Given the description of an element on the screen output the (x, y) to click on. 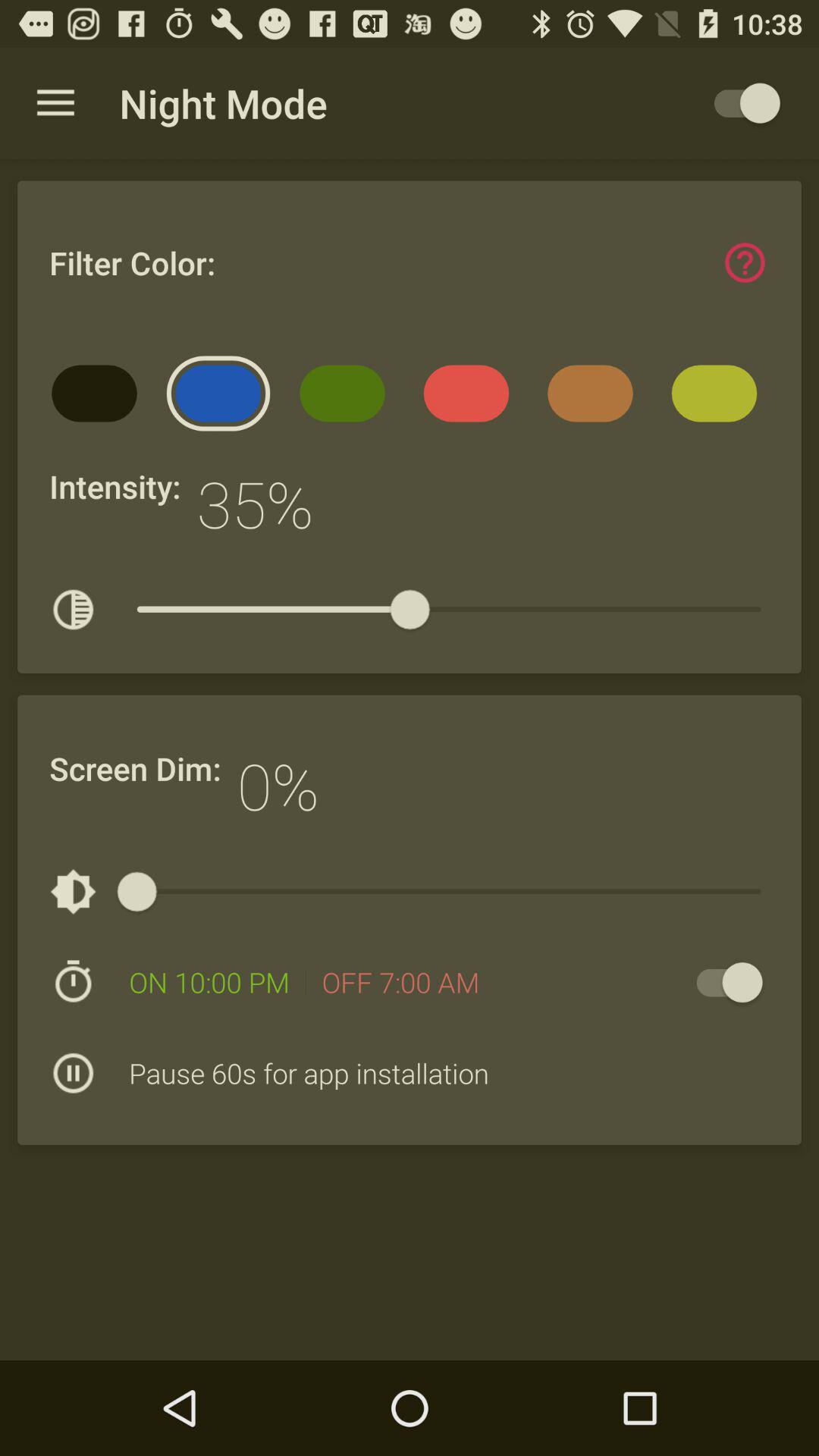
toggle night mode (739, 103)
